Given the description of an element on the screen output the (x, y) to click on. 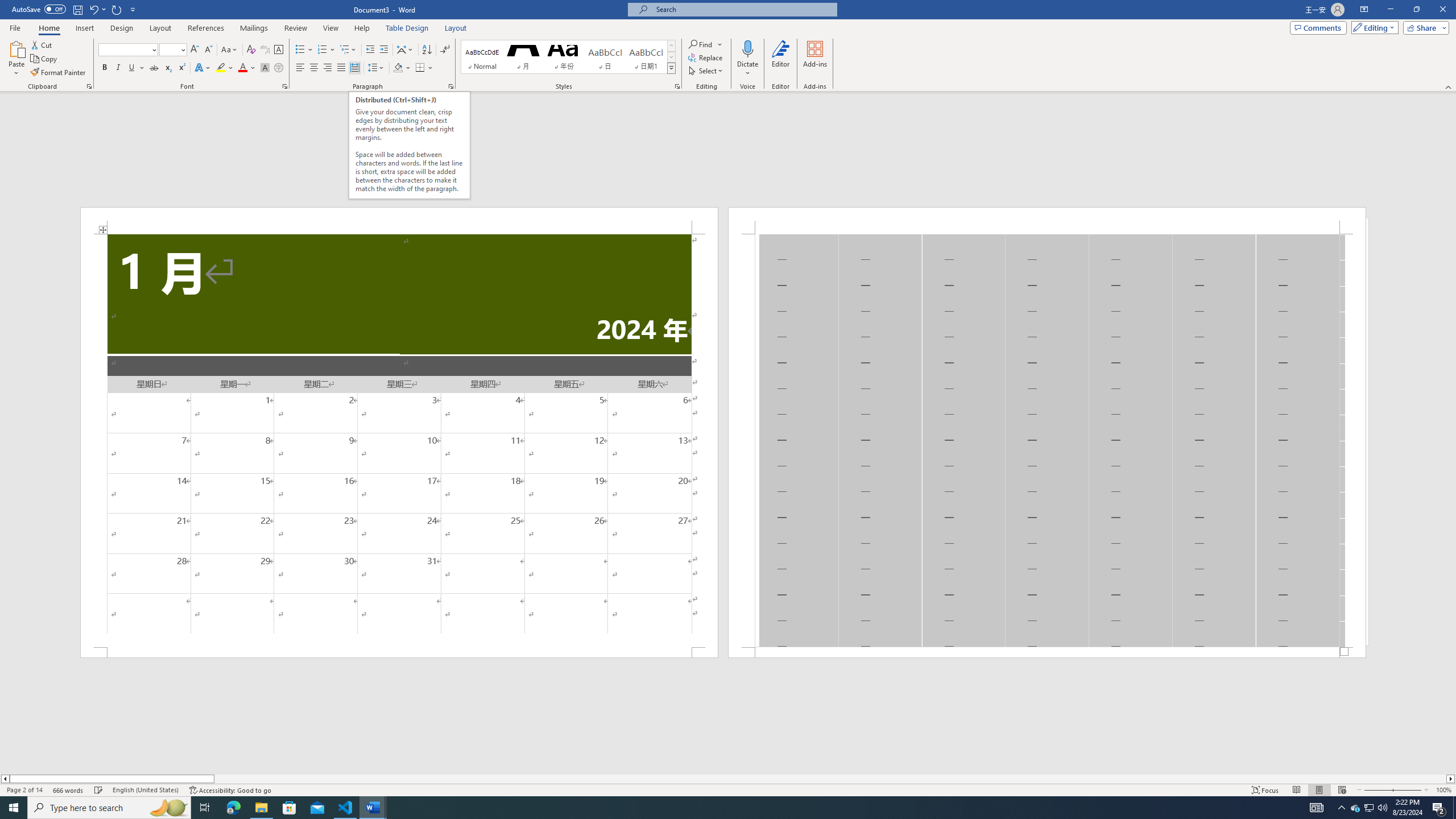
Page 2 content (1046, 440)
Repeat Doc Close (117, 9)
Spelling and Grammar Check Checking (98, 790)
Page Number Page 2 of 14 (24, 790)
Word Count 666 words (68, 790)
